Given the description of an element on the screen output the (x, y) to click on. 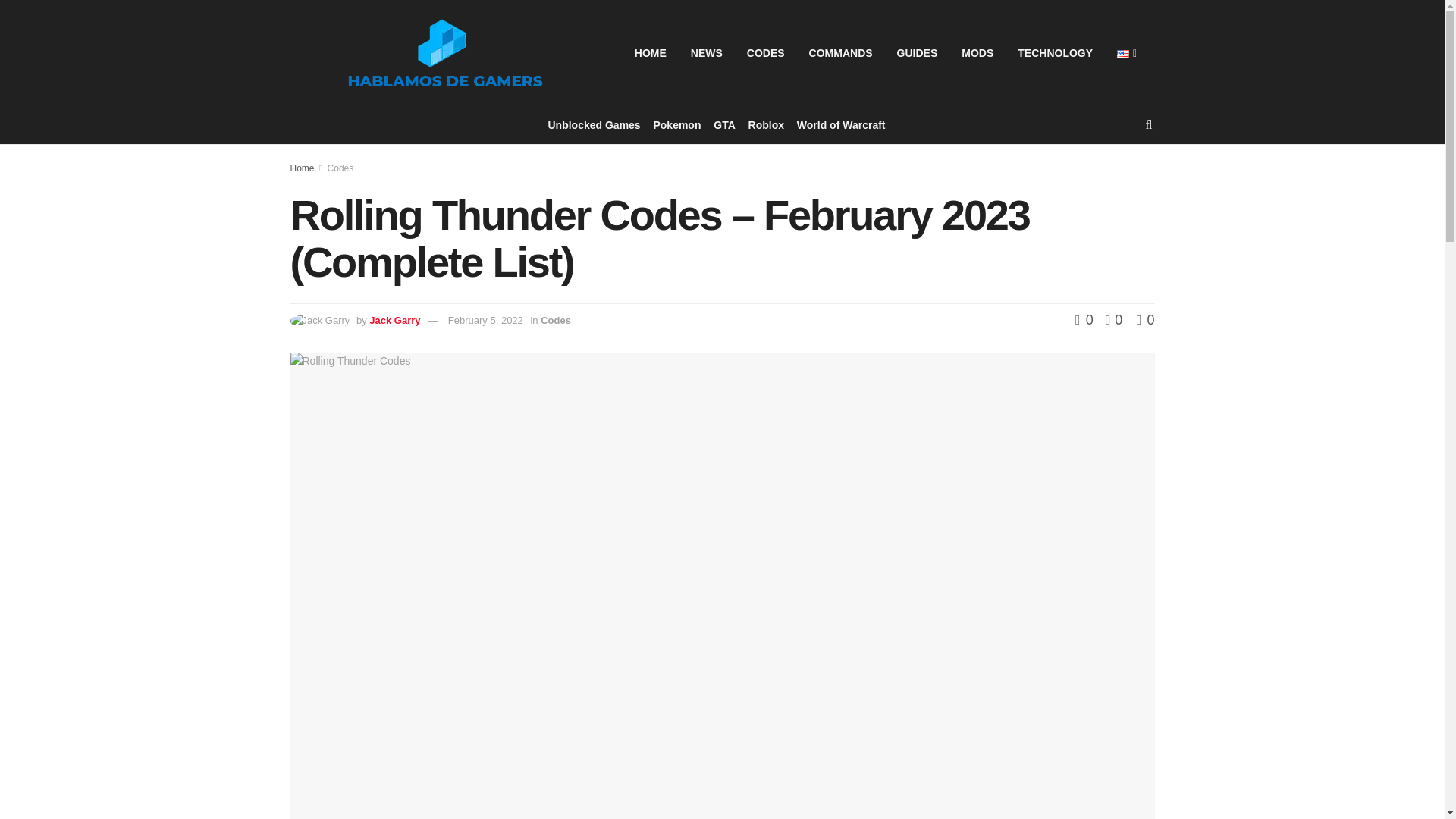
GUIDES (917, 53)
Pokemon (676, 125)
Roblox (766, 125)
Home (301, 167)
NEWS (706, 53)
World of Warcraft (840, 125)
Jack Garry (394, 319)
February 5, 2022 (485, 319)
COMMANDS (840, 53)
MODS (977, 53)
